Given the description of an element on the screen output the (x, y) to click on. 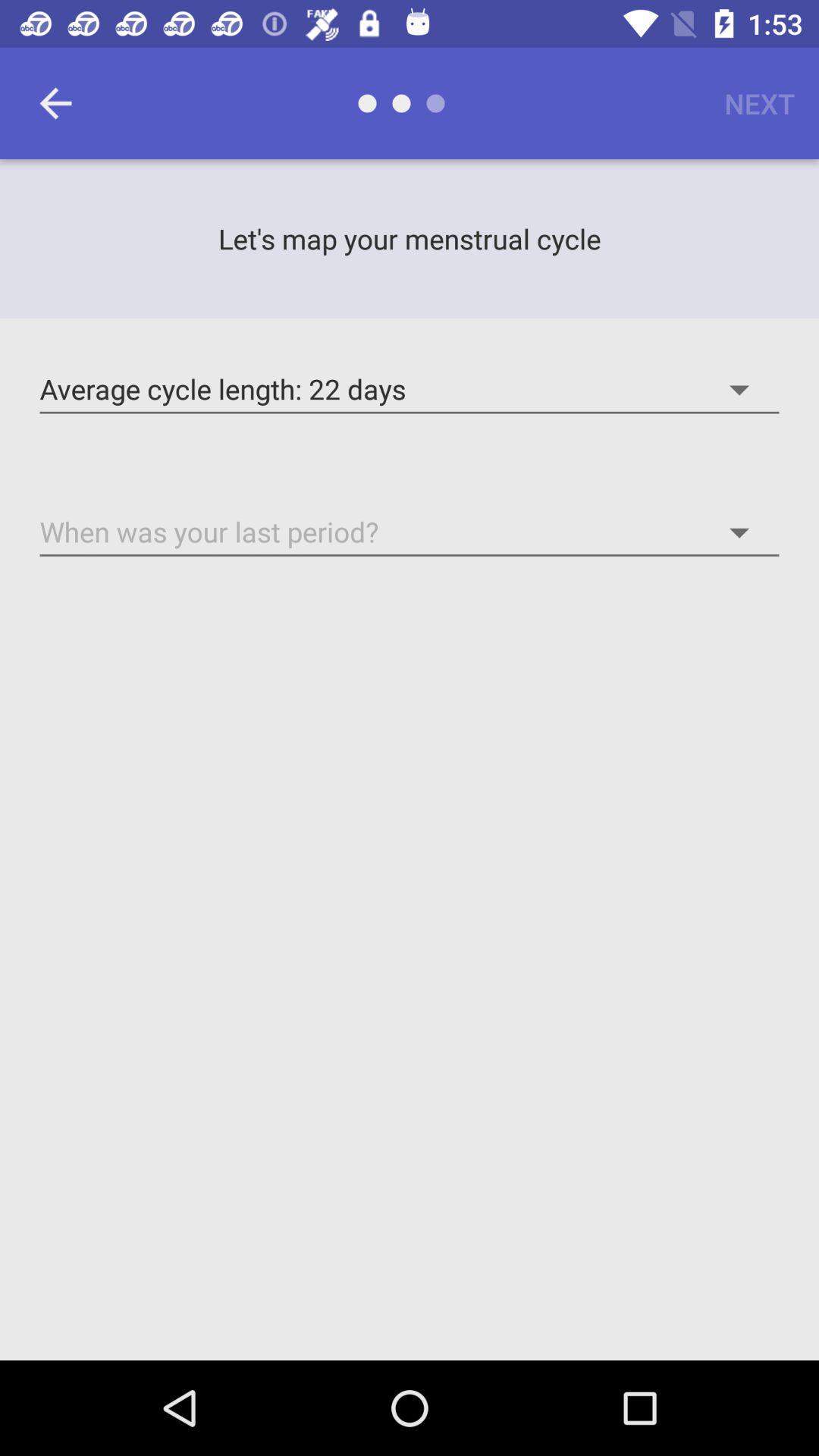
enter numerical value (409, 532)
